Given the description of an element on the screen output the (x, y) to click on. 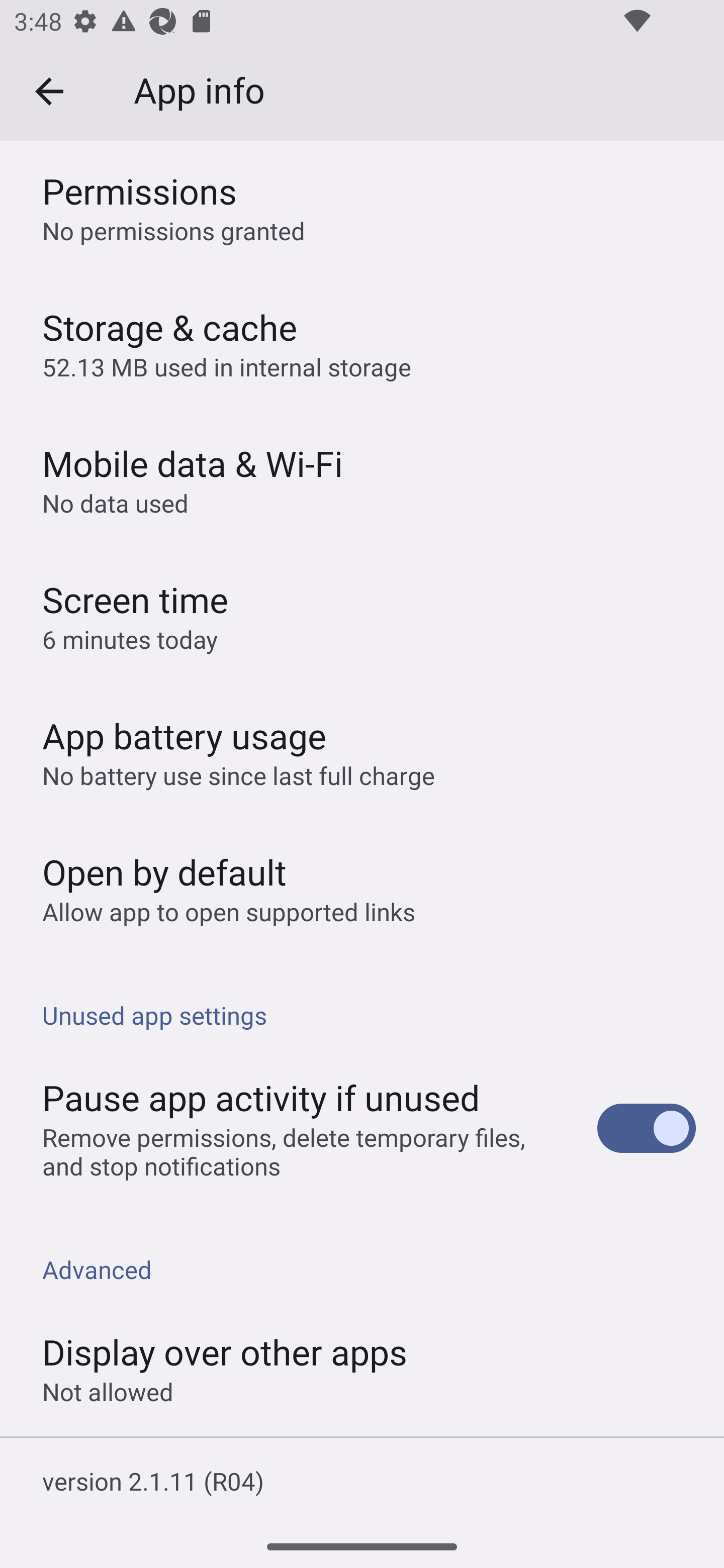
Navigate up (49, 91)
Permissions No permissions granted (362, 208)
Storage & cache 52.13 MB used in internal storage (362, 342)
Mobile data & Wi‑Fi No data used (362, 478)
Screen time 6 minutes today (362, 615)
Open by default Allow app to open supported links (362, 888)
Display over other apps Not allowed (362, 1367)
